Given the description of an element on the screen output the (x, y) to click on. 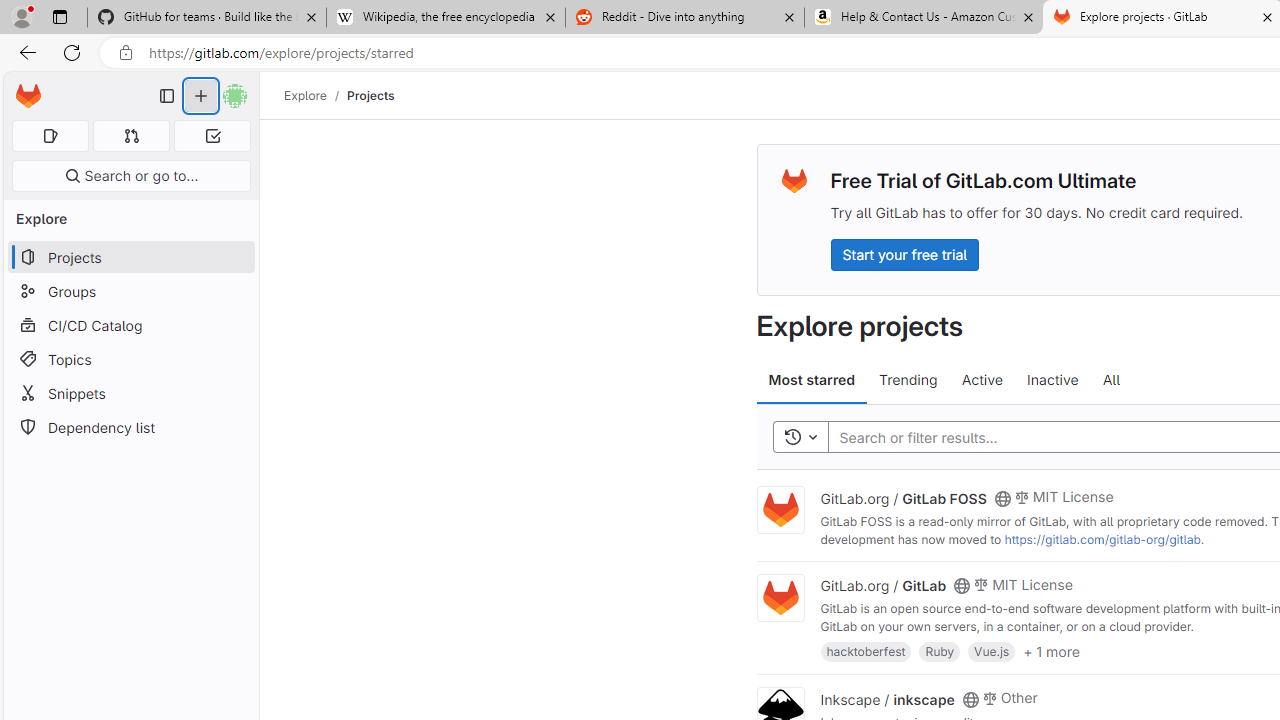
Groups (130, 291)
Active (982, 379)
Dependency list (130, 427)
All (1111, 379)
Class: s16 (970, 699)
CI/CD Catalog (130, 325)
Start your free trial (904, 254)
https://gitlab.com/gitlab-org/gitlab (1101, 539)
GitLab.org / GitLab (883, 585)
Toggle history (800, 437)
